Given the description of an element on the screen output the (x, y) to click on. 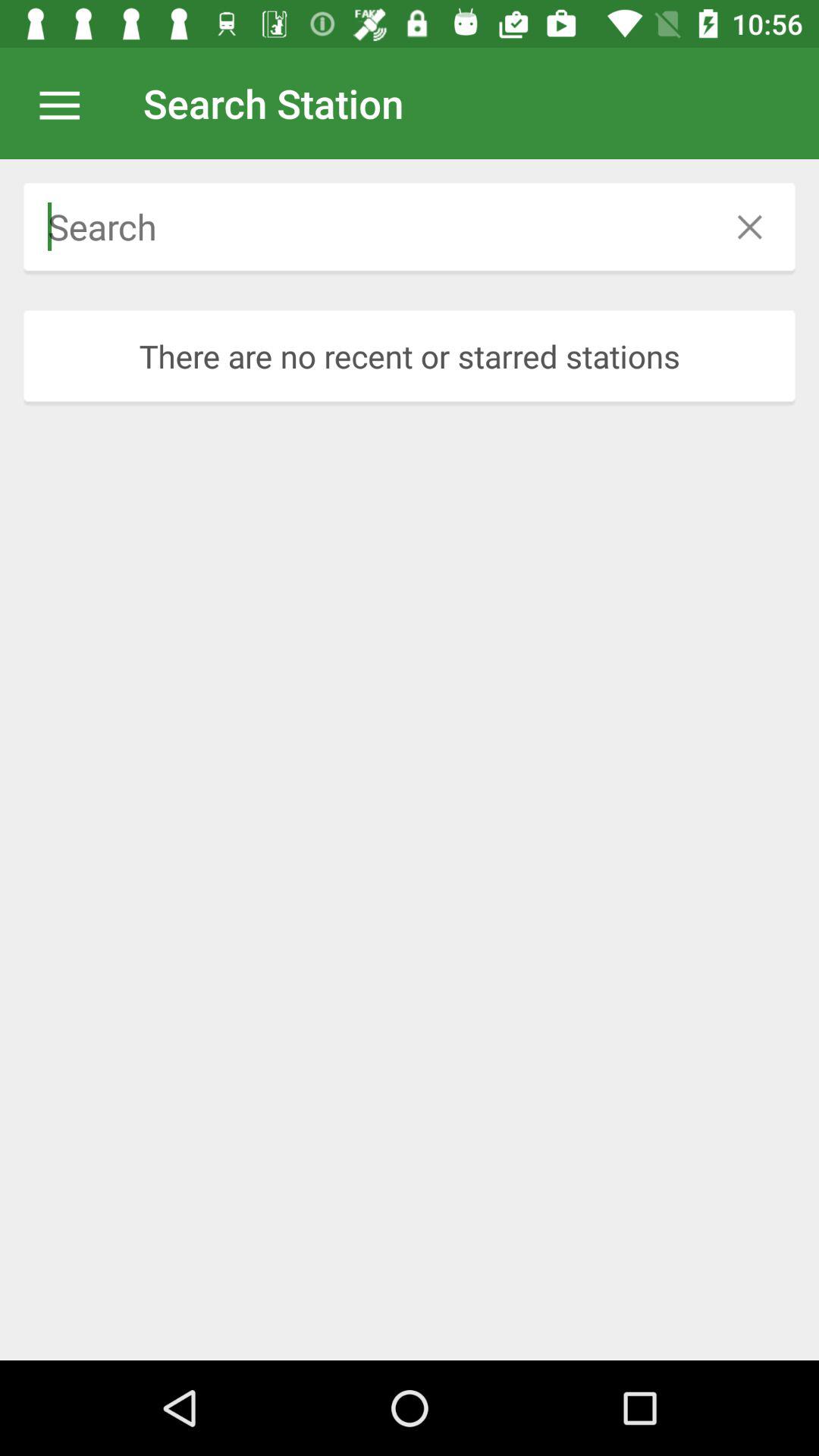
press icon above there are no (749, 226)
